Given the description of an element on the screen output the (x, y) to click on. 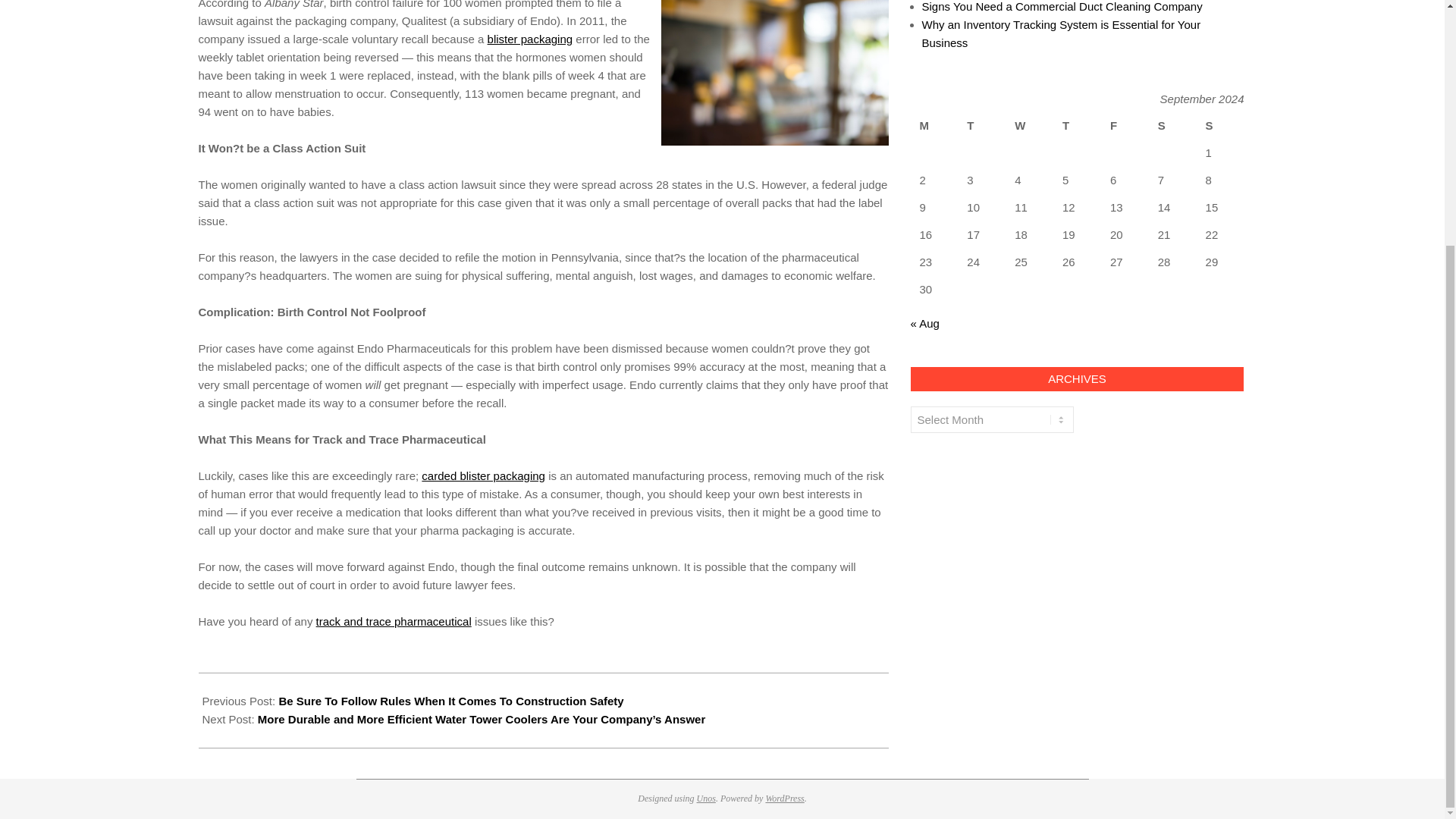
Sunday (1220, 125)
E-pedigree serialisation (393, 621)
carded blister packaging (483, 475)
Tuesday (982, 125)
WordPress (784, 798)
Thursday (1076, 125)
Monday (934, 125)
Unos WordPress Theme (706, 798)
Wednesday (1029, 125)
